Given the description of an element on the screen output the (x, y) to click on. 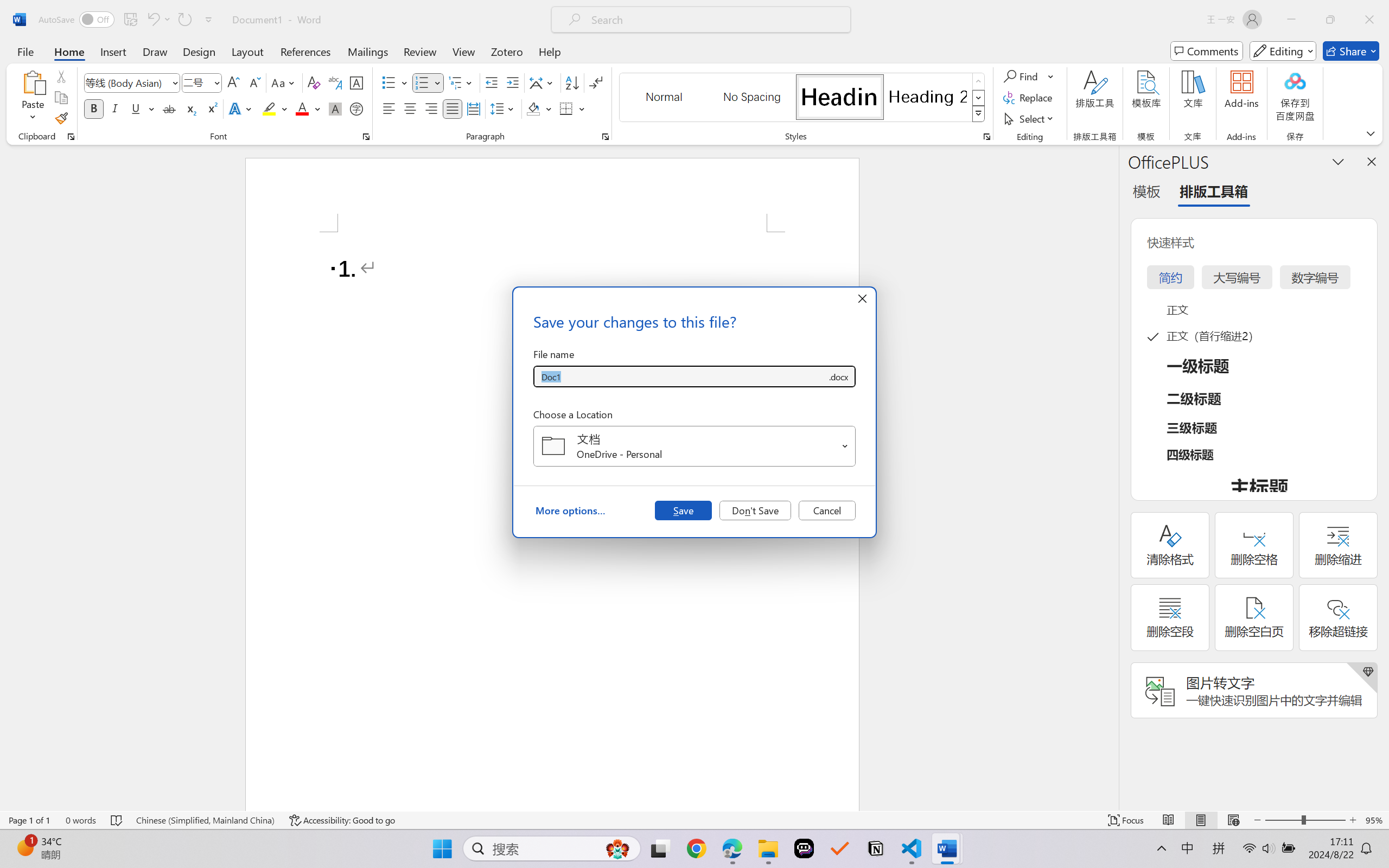
Save as type (837, 376)
